Given the description of an element on the screen output the (x, y) to click on. 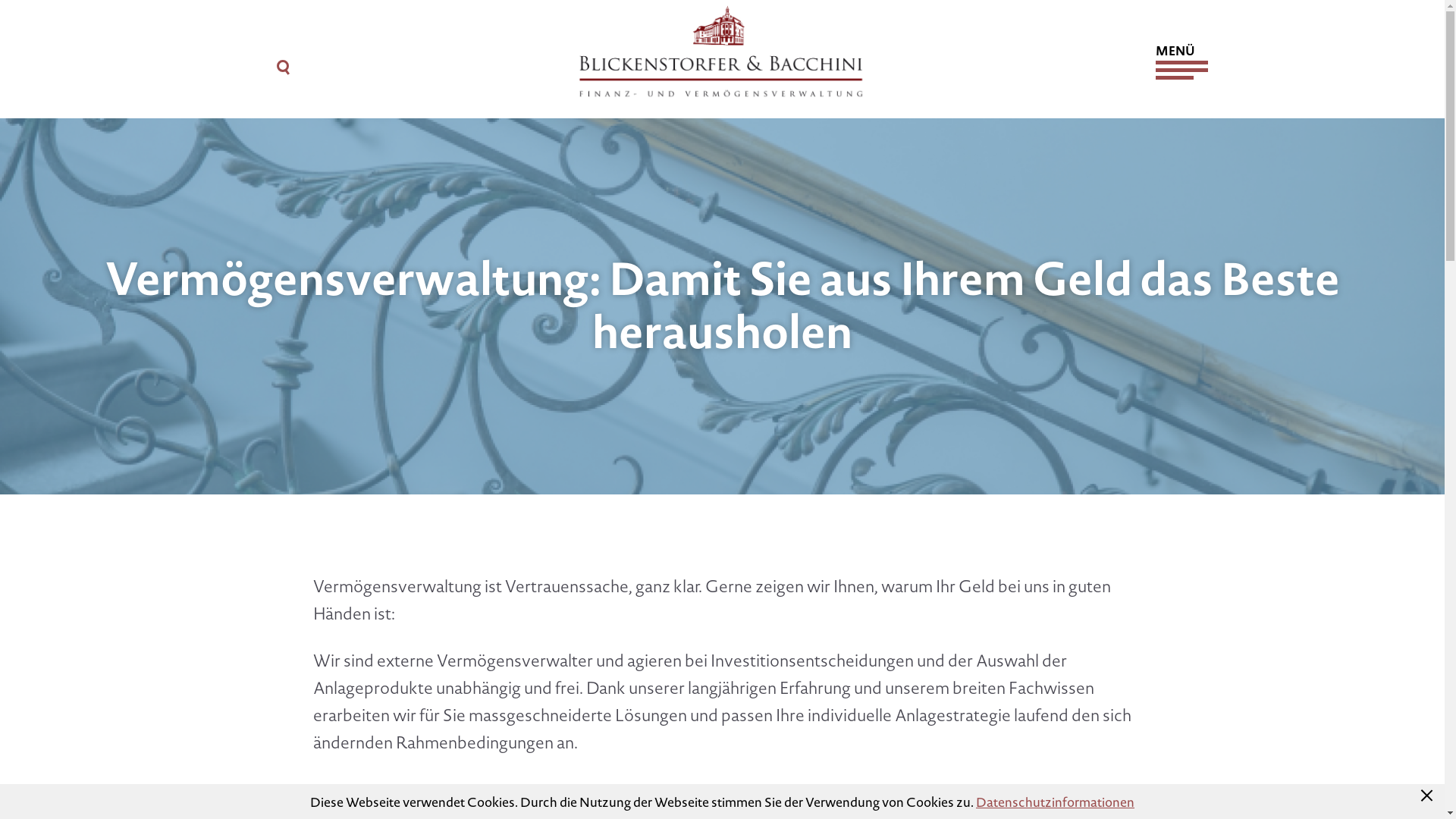
Datenschutzinformationen Element type: text (1054, 800)
Zur Startseite Element type: hover (721, 49)
